Given the description of an element on the screen output the (x, y) to click on. 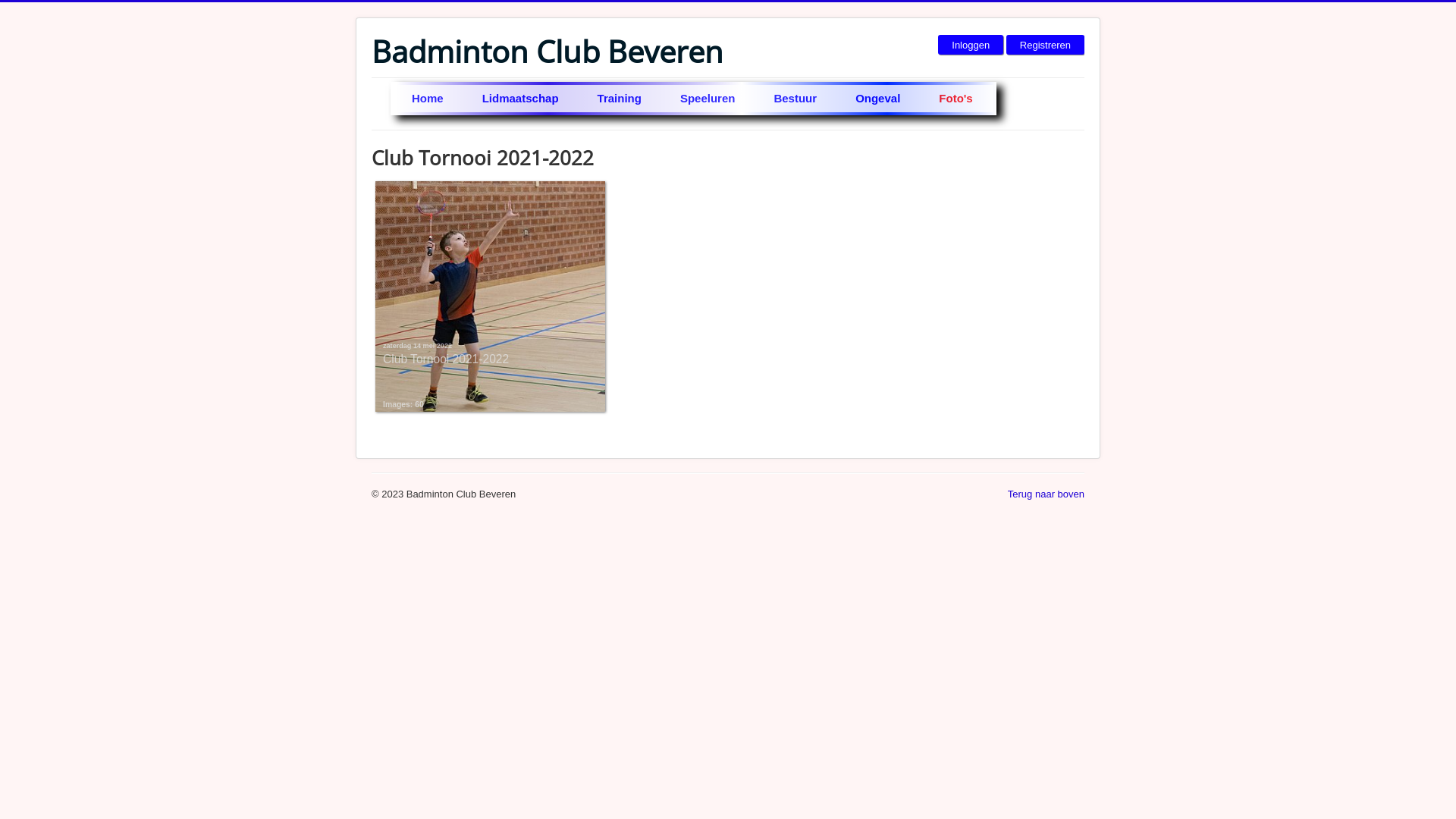
Training Element type: text (620, 98)
Speeluren Element type: text (709, 98)
Badminton Club Beveren Element type: text (547, 51)
Foto's Element type: text (956, 98)
Bestuur Element type: text (796, 98)
Ongeval Element type: text (878, 98)
Terug naar boven Element type: text (1045, 493)
zaterdag 14 mei 2022
Club Tornooi 2021-2022
Images: 60 Element type: text (490, 296)
Lidmaatschap Element type: text (521, 98)
Home Element type: text (428, 98)
